Given the description of an element on the screen output the (x, y) to click on. 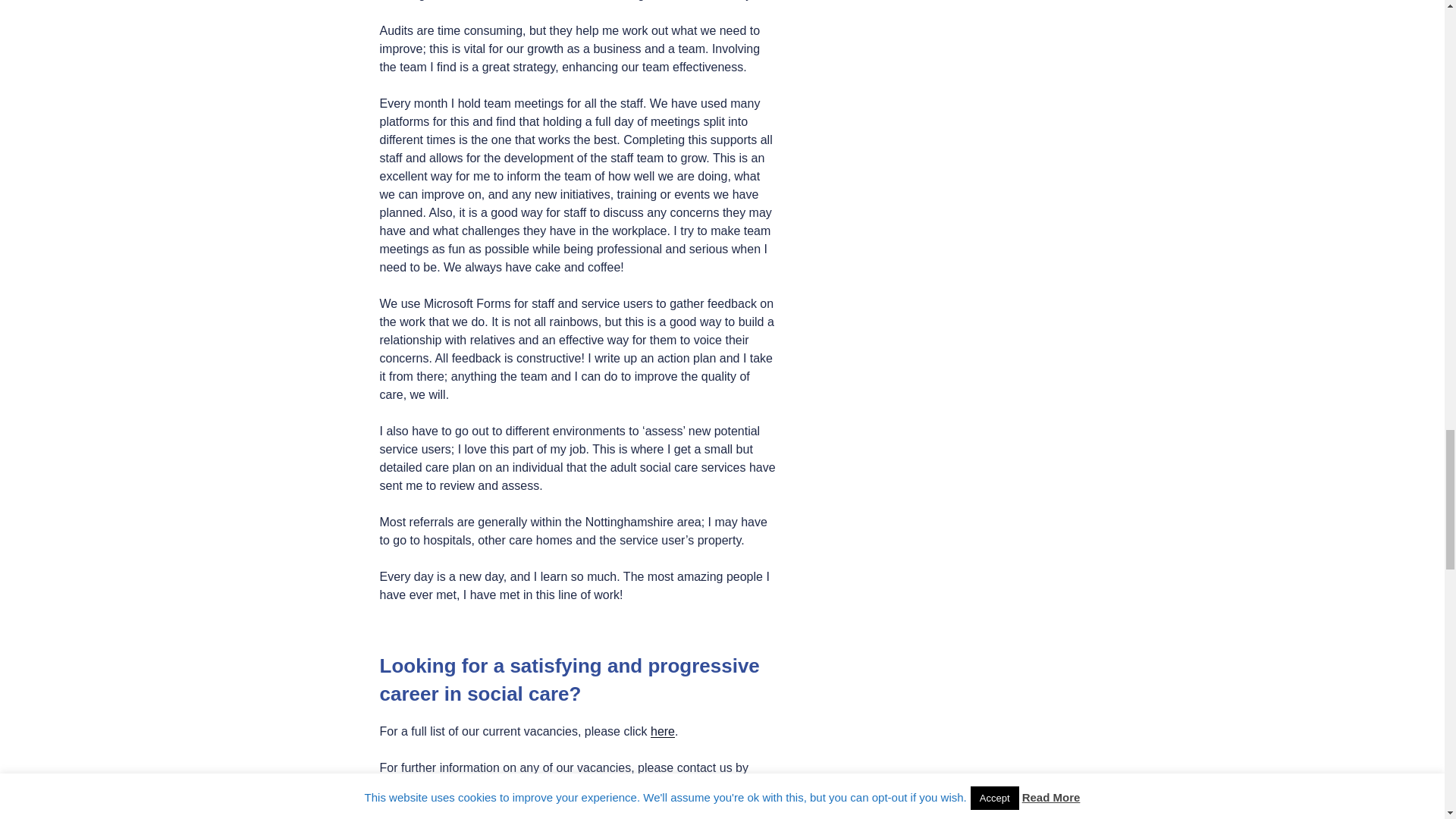
here (662, 730)
